Given the description of an element on the screen output the (x, y) to click on. 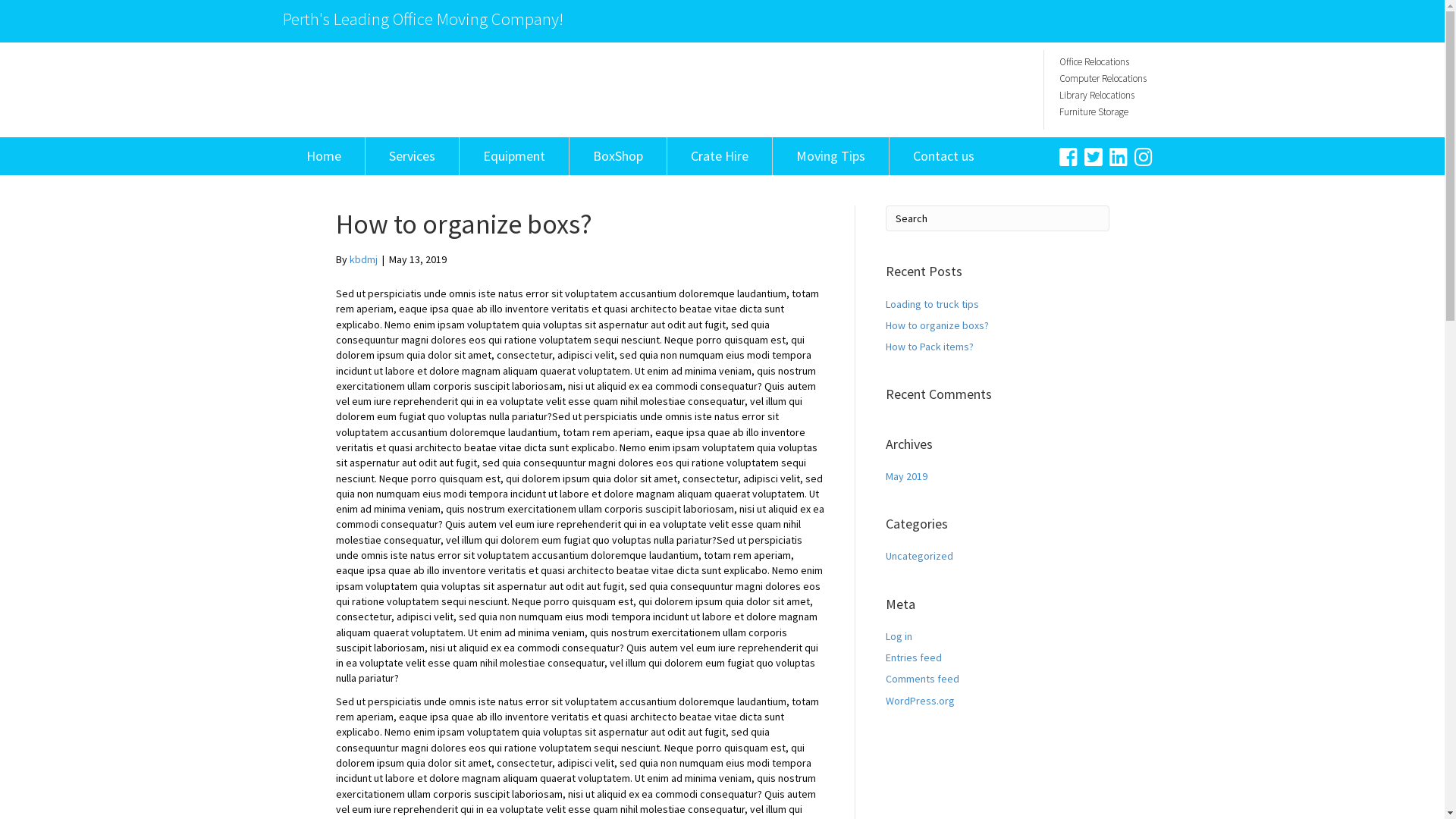
Uncategorized Element type: text (919, 555)
Entries feed Element type: text (913, 657)
Moving Tips Element type: text (829, 156)
Type and press Enter to search. Element type: hover (997, 218)
Equipment Element type: text (513, 156)
kbdmj Element type: text (362, 259)
Contact us Element type: text (942, 156)
How to organize boxs? Element type: text (936, 325)
How to Pack items? Element type: text (929, 346)
Loading to truck tips Element type: text (932, 303)
Crate Hire Element type: text (719, 156)
May 2019 Element type: text (906, 476)
BoxShop Element type: text (616, 156)
WordPress.org Element type: text (919, 700)
Log in Element type: text (898, 636)
Services Element type: text (411, 156)
Comments feed Element type: text (922, 678)
Home Element type: text (323, 156)
